Given the description of an element on the screen output the (x, y) to click on. 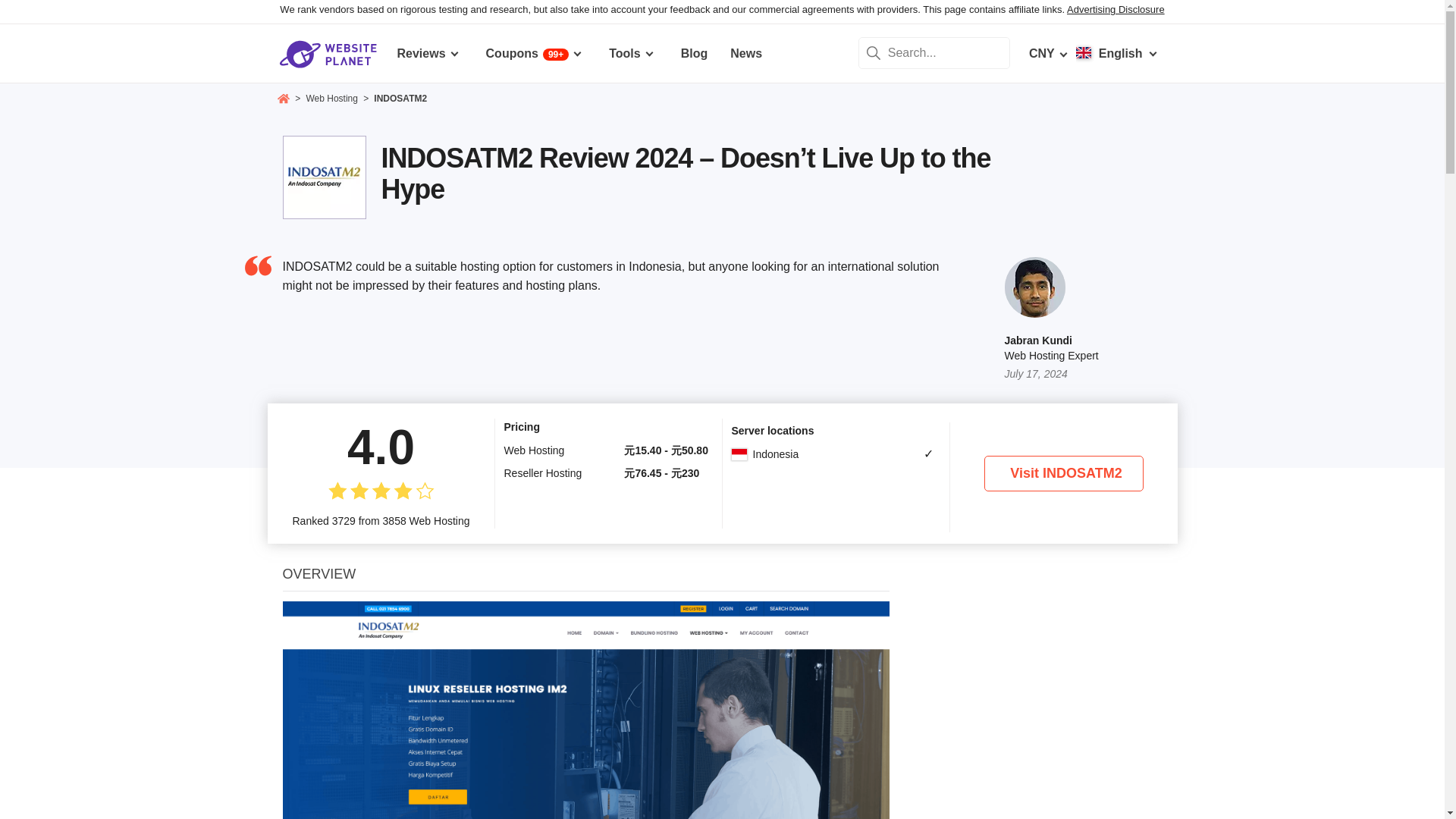
Search (873, 52)
Advertising Disclosure (1115, 9)
Search (873, 52)
